Given the description of an element on the screen output the (x, y) to click on. 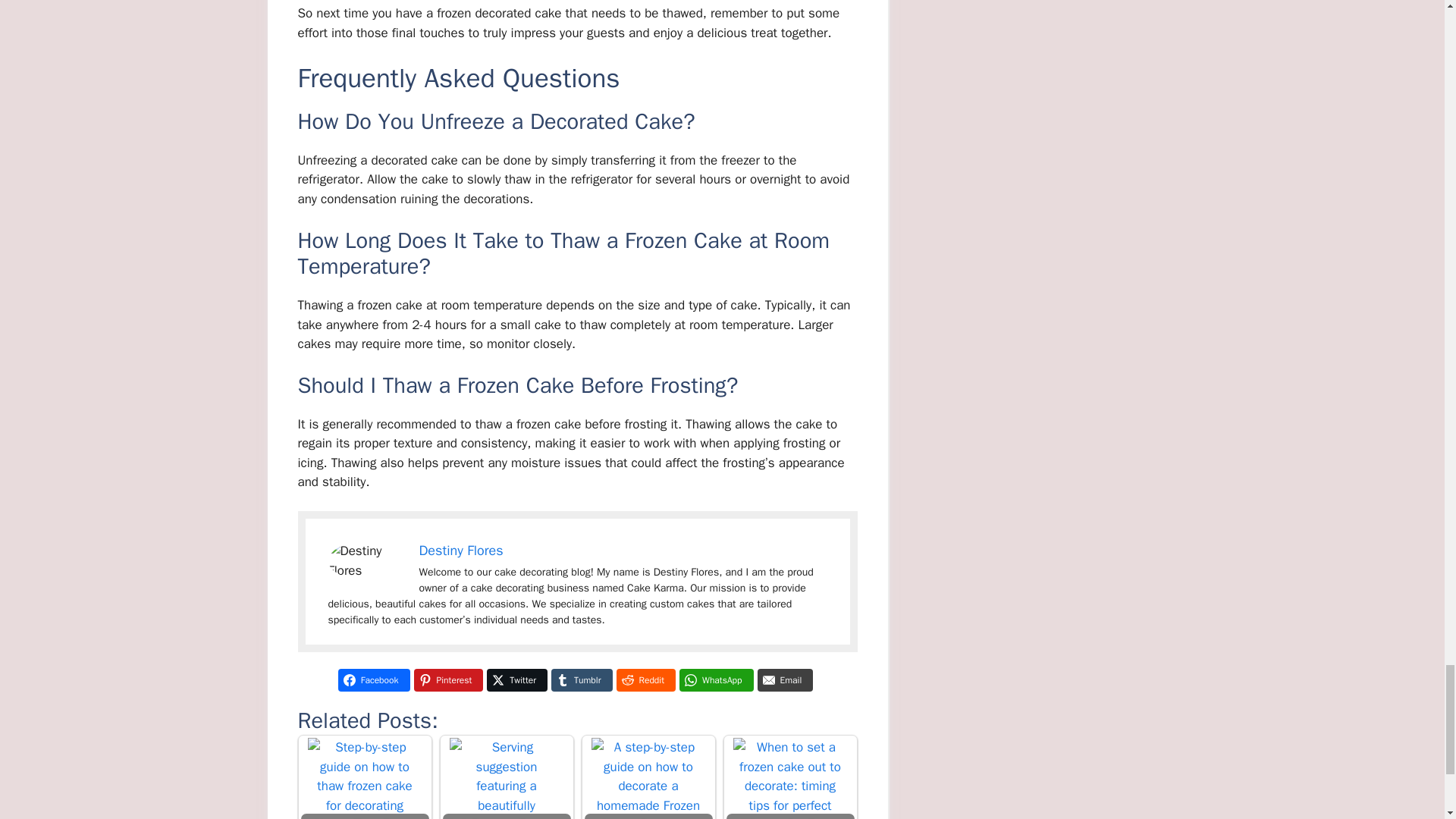
Destiny Flores (460, 550)
Facebook (373, 680)
Pinterest (448, 680)
